Given the description of an element on the screen output the (x, y) to click on. 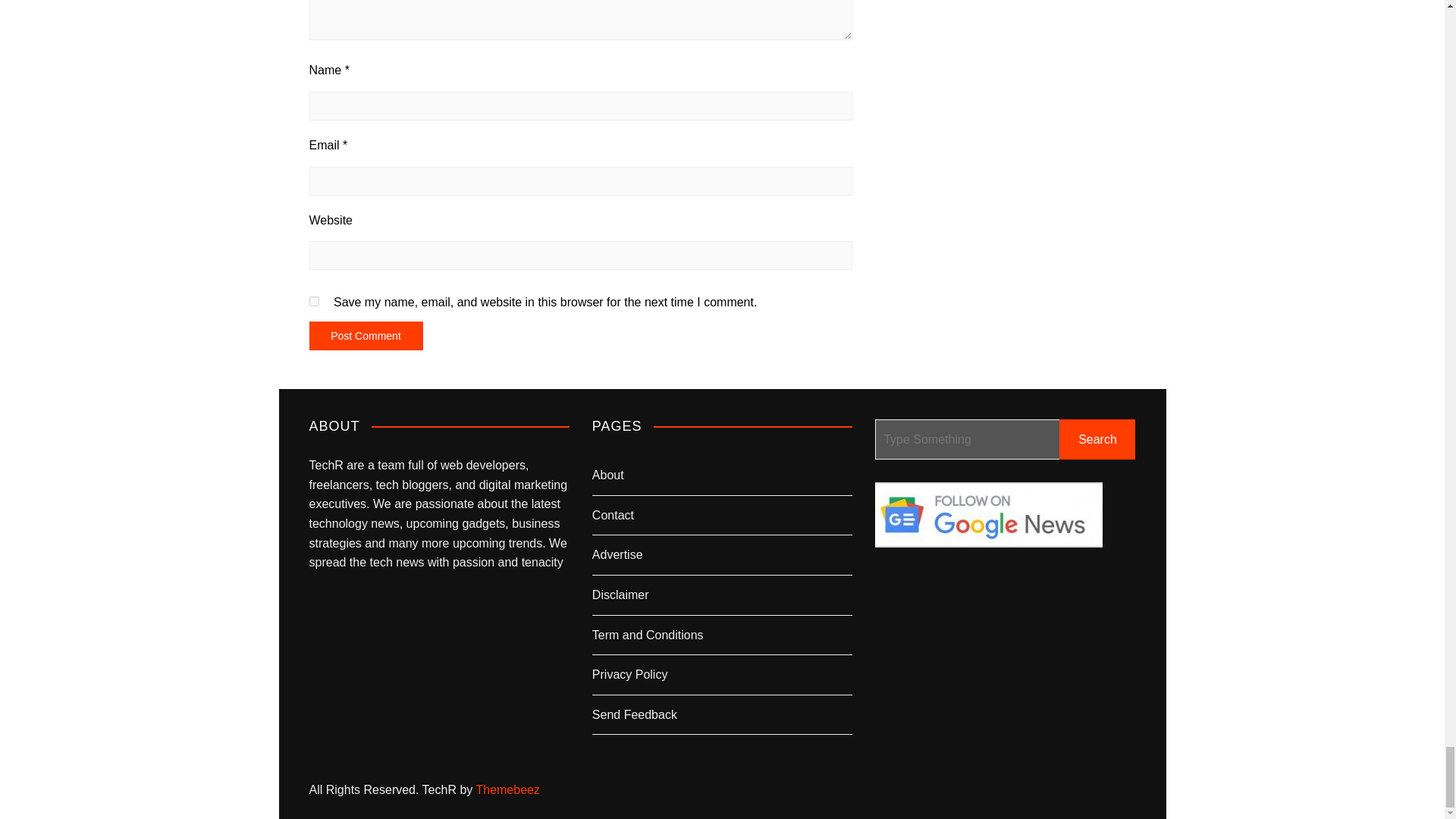
Post Comment (365, 335)
Search (1097, 439)
yes (313, 301)
